Given the description of an element on the screen output the (x, y) to click on. 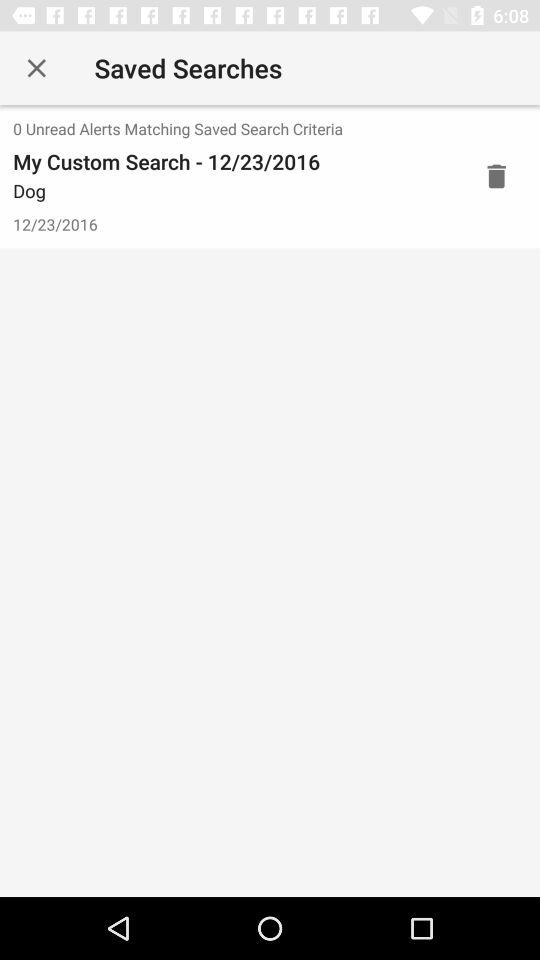
launch icon above the 0 unread alerts icon (36, 68)
